Given the description of an element on the screen output the (x, y) to click on. 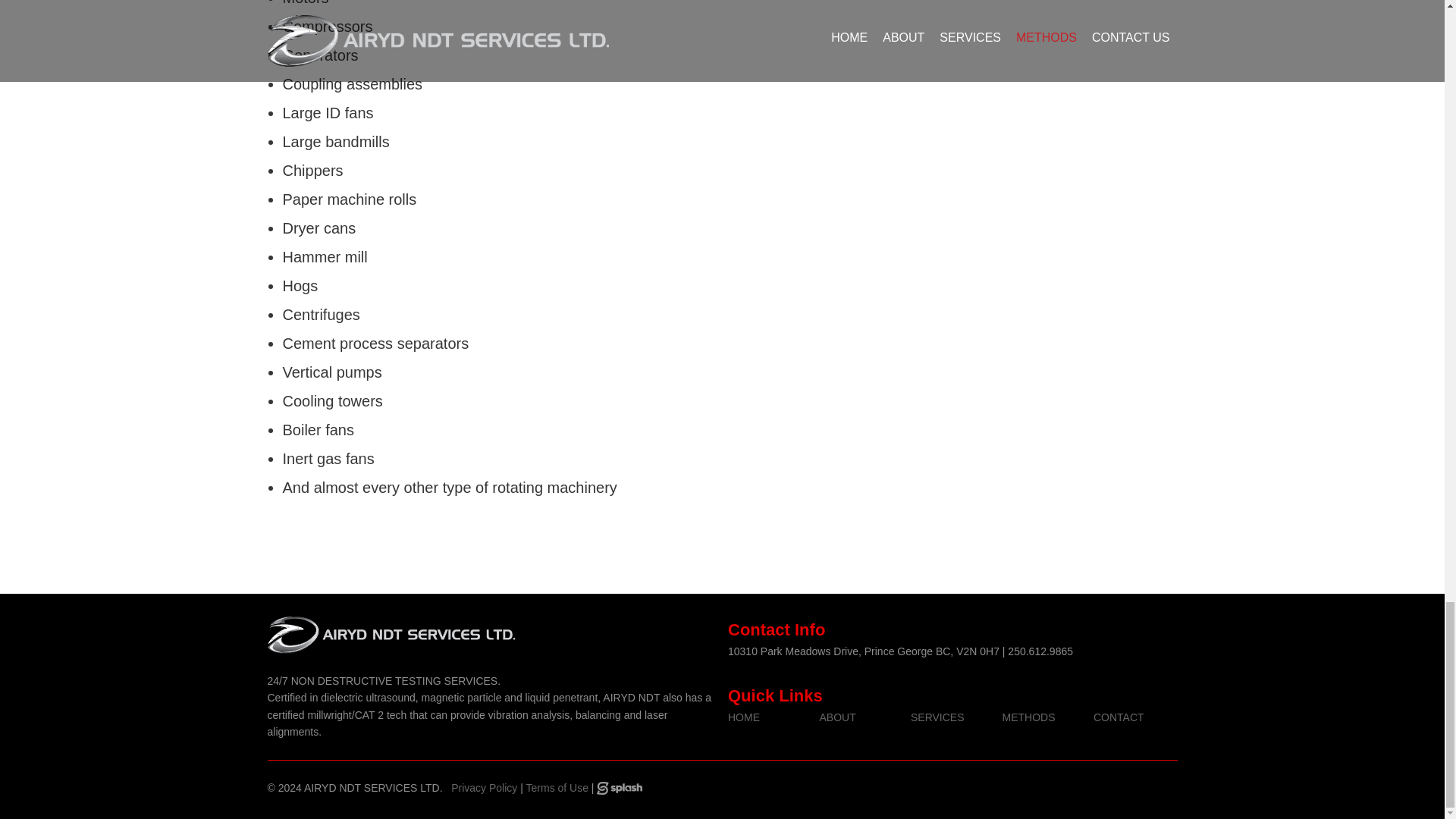
HOME (744, 717)
ABOUT (837, 717)
Privacy Policy (483, 787)
Terms of Use (556, 787)
SERVICES (937, 717)
METHODS (1029, 717)
CONTACT (1118, 717)
